Given the description of an element on the screen output the (x, y) to click on. 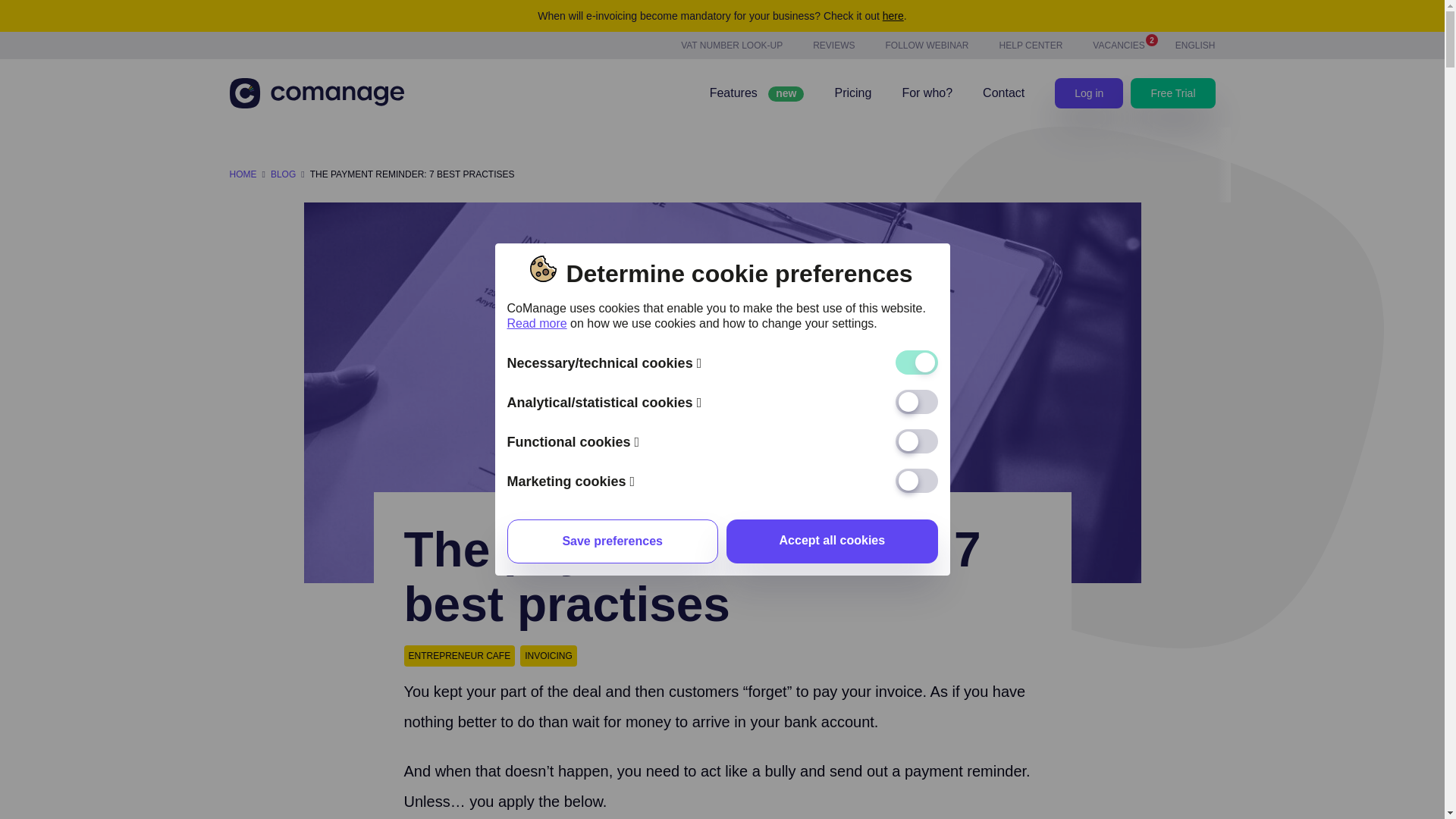
HOME (242, 174)
Features new (757, 92)
ENGLISH (1194, 45)
For who? (926, 92)
INVOICING (547, 655)
ENTREPRENEUR CAFE (459, 655)
VAT NUMBER LOOK-UP (732, 45)
FOLLOW WEBINAR (1118, 45)
Pricing (927, 45)
here (852, 92)
Log in (893, 15)
Free Trial (1088, 92)
Contact (1172, 92)
REVIEWS (1003, 92)
